Given the description of an element on the screen output the (x, y) to click on. 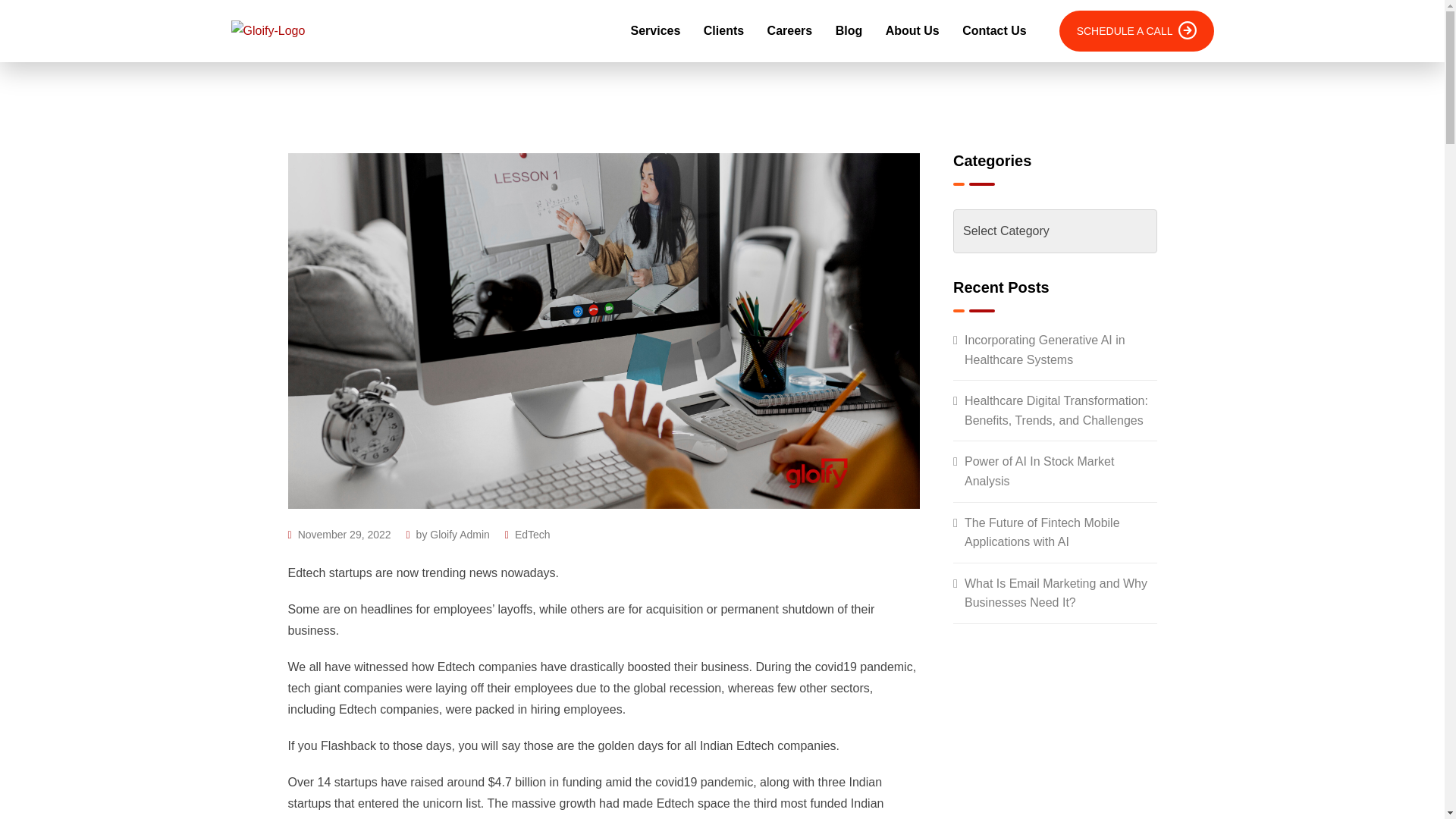
SCHEDULE A CALL (1136, 30)
Services (655, 31)
What Is Email Marketing and Why Businesses Need It? (1055, 593)
Power of AI In Stock Market Analysis (1055, 471)
The Future of Fintech Mobile Applications with AI (1055, 532)
Clients (724, 31)
EdTech (532, 534)
About Us (912, 31)
Posts by Gloify Admin (459, 534)
Contact Us (993, 31)
Incorporating Generative AI in Healthcare Systems (1055, 349)
Careers (789, 31)
Gloify Admin (459, 534)
